Given the description of an element on the screen output the (x, y) to click on. 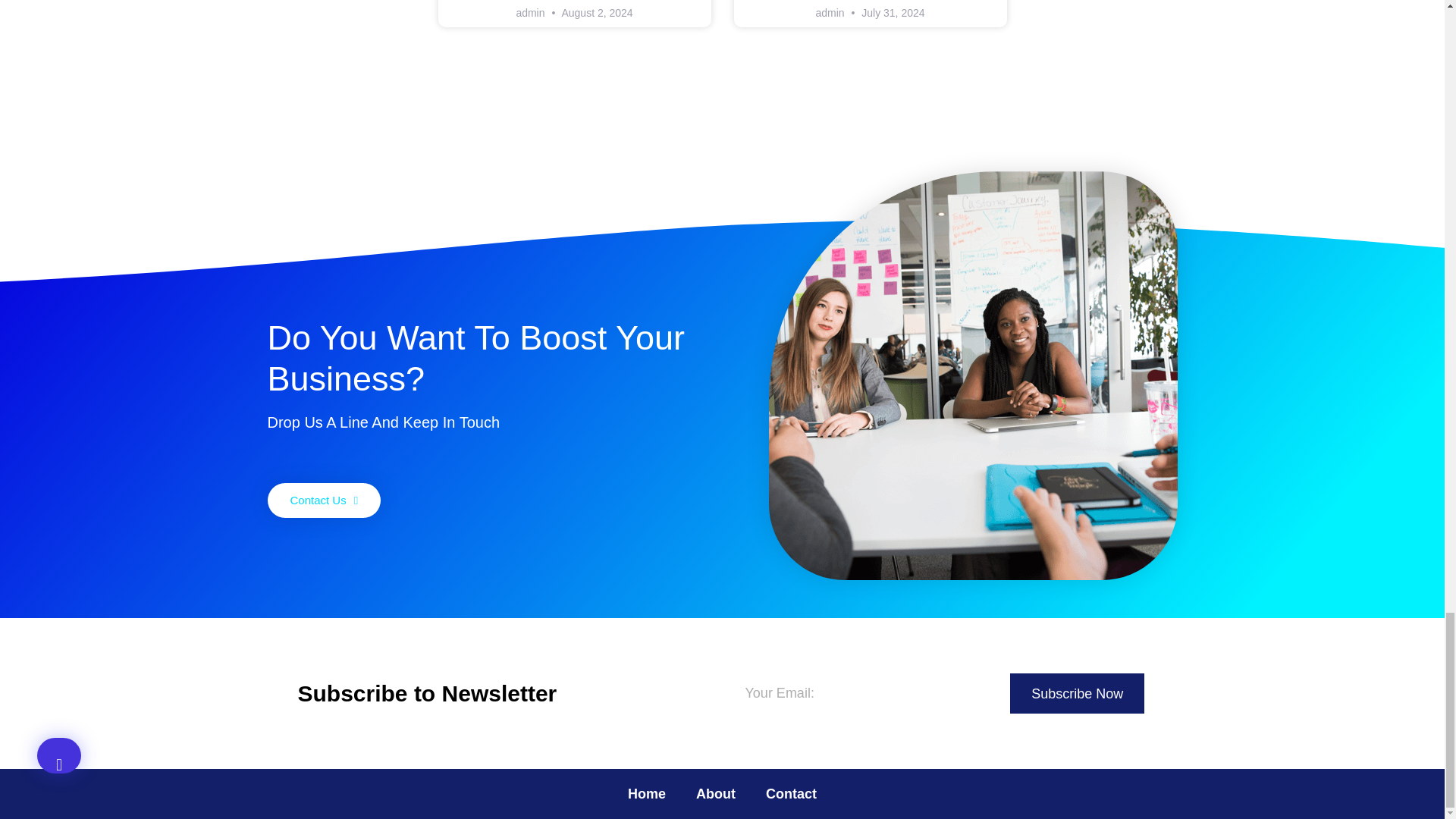
Contact (791, 793)
About (716, 793)
Home (646, 793)
Subscribe Now (1077, 692)
Contact Us (323, 500)
